Given the description of an element on the screen output the (x, y) to click on. 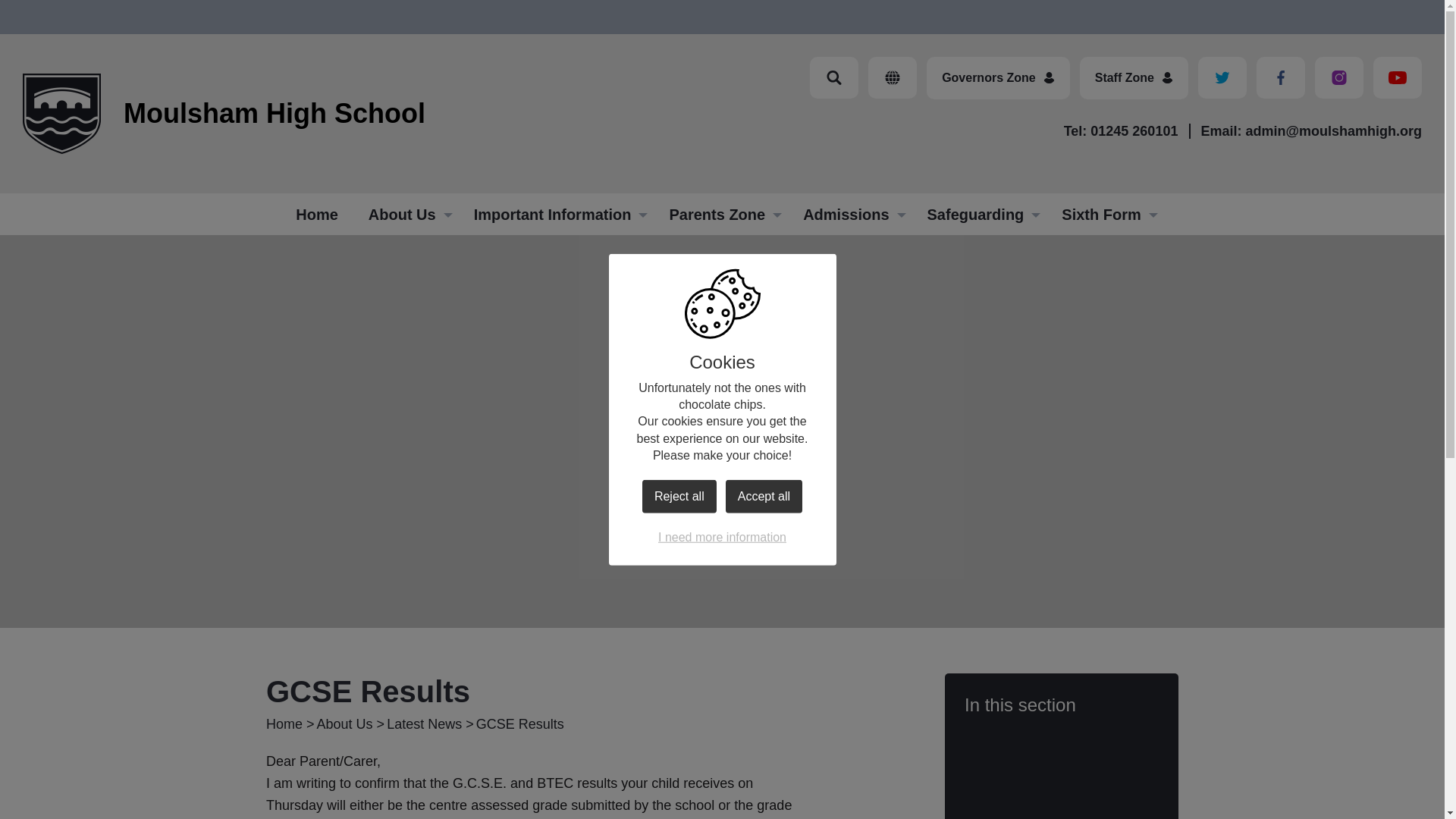
Instagram (1338, 77)
Home Page (61, 113)
Youtube (1397, 77)
Office 365 (892, 77)
Facebook (998, 77)
Twitter (1280, 77)
Tel: 01245 260101 (1222, 77)
About Us (834, 77)
Staff Zone (1120, 131)
Home (405, 214)
